Given the description of an element on the screen output the (x, y) to click on. 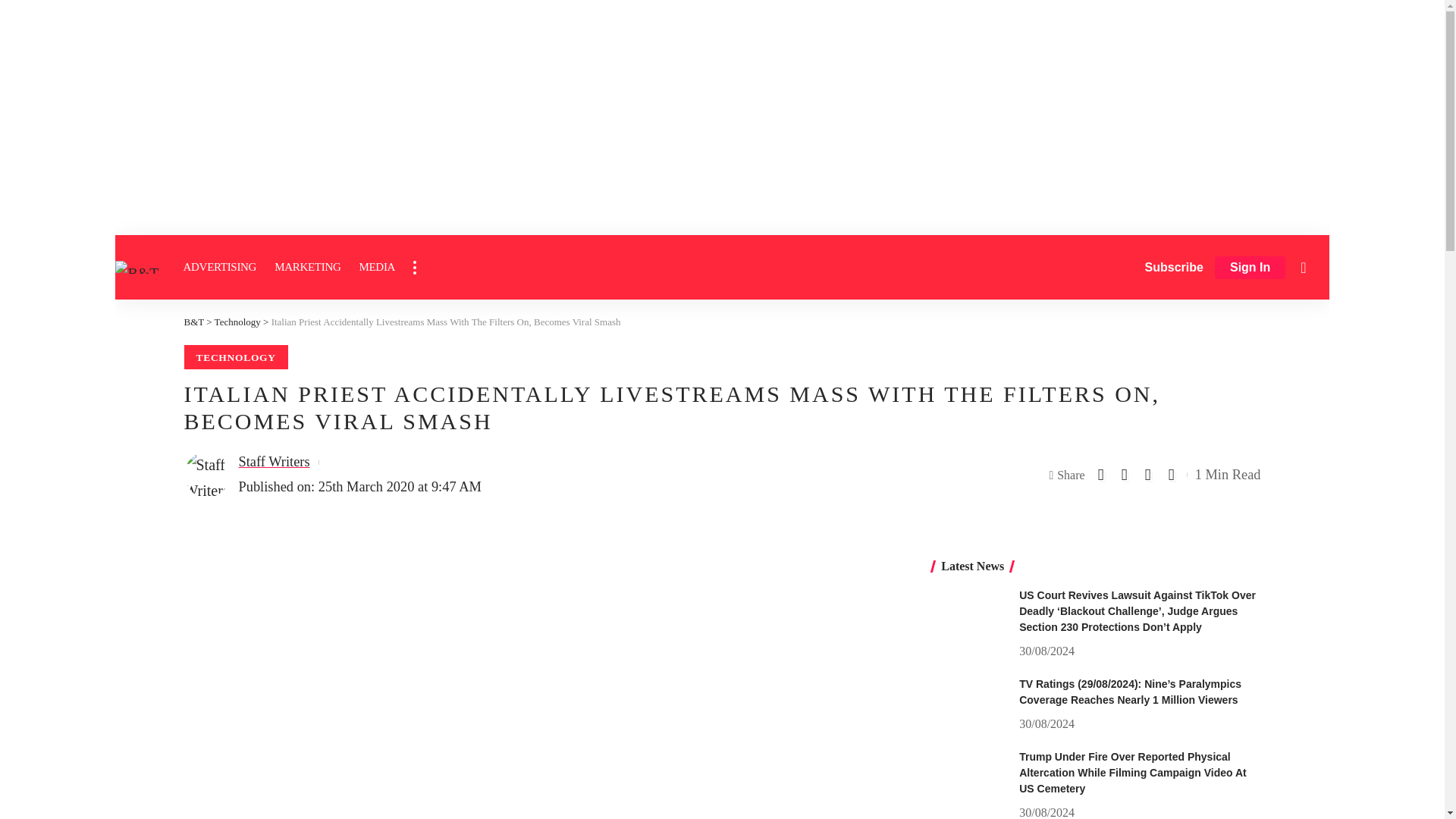
Sign In (1249, 267)
MARKETING (306, 267)
Go to the Technology Category archives. (237, 321)
Subscribe (1174, 267)
ADVERTISING (220, 267)
